Given the description of an element on the screen output the (x, y) to click on. 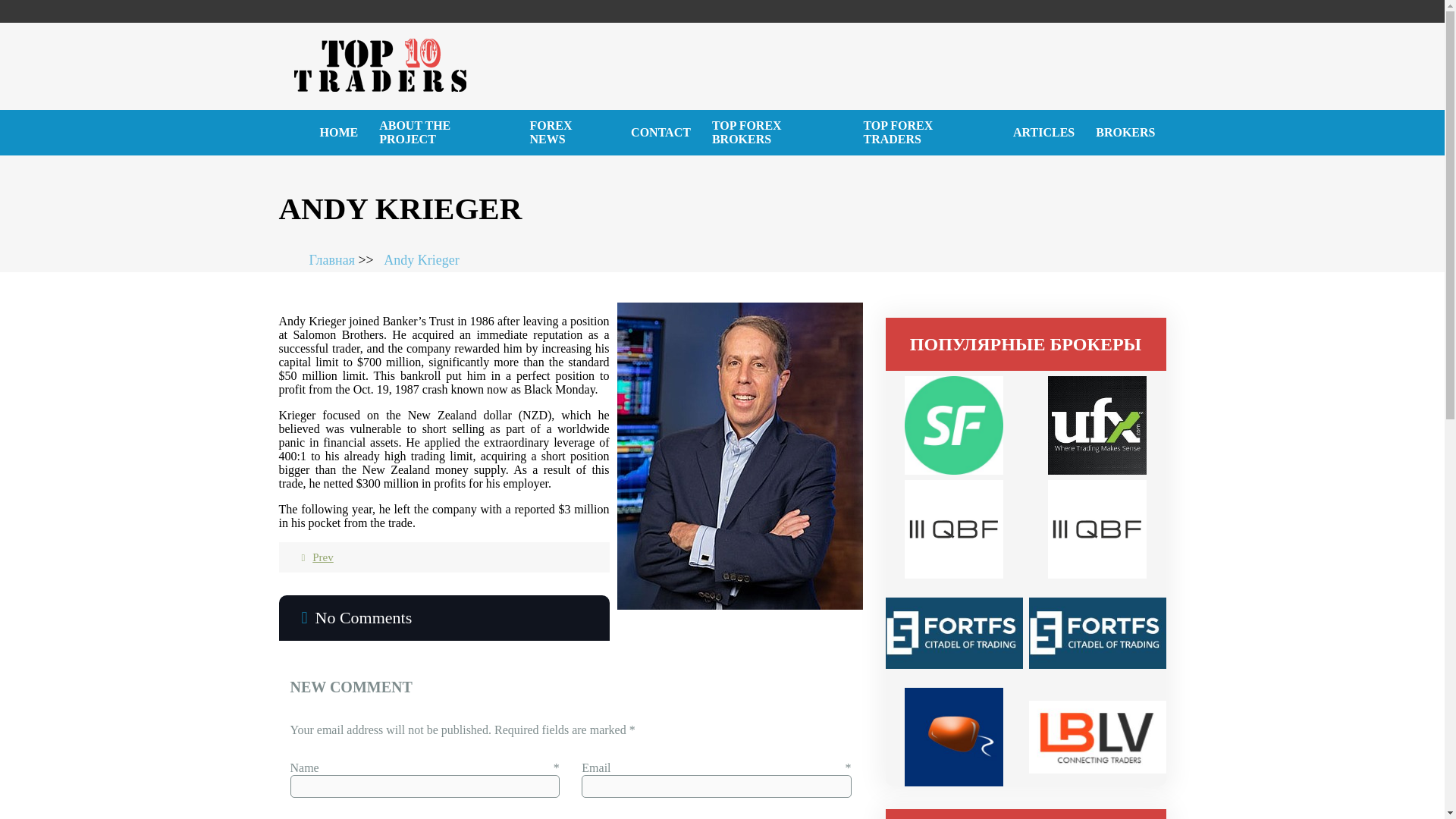
HOME (338, 132)
TOP FOREX BROKERS (777, 132)
CONTACT (660, 132)
ABOUT THE PROJECT (443, 132)
Go to Top 10 Traders. (341, 259)
FOREX NEWS (570, 132)
BROKERS (1125, 132)
ARTICLES (1043, 132)
TOP FOREX TRADERS (927, 132)
Prev (313, 556)
